Given the description of an element on the screen output the (x, y) to click on. 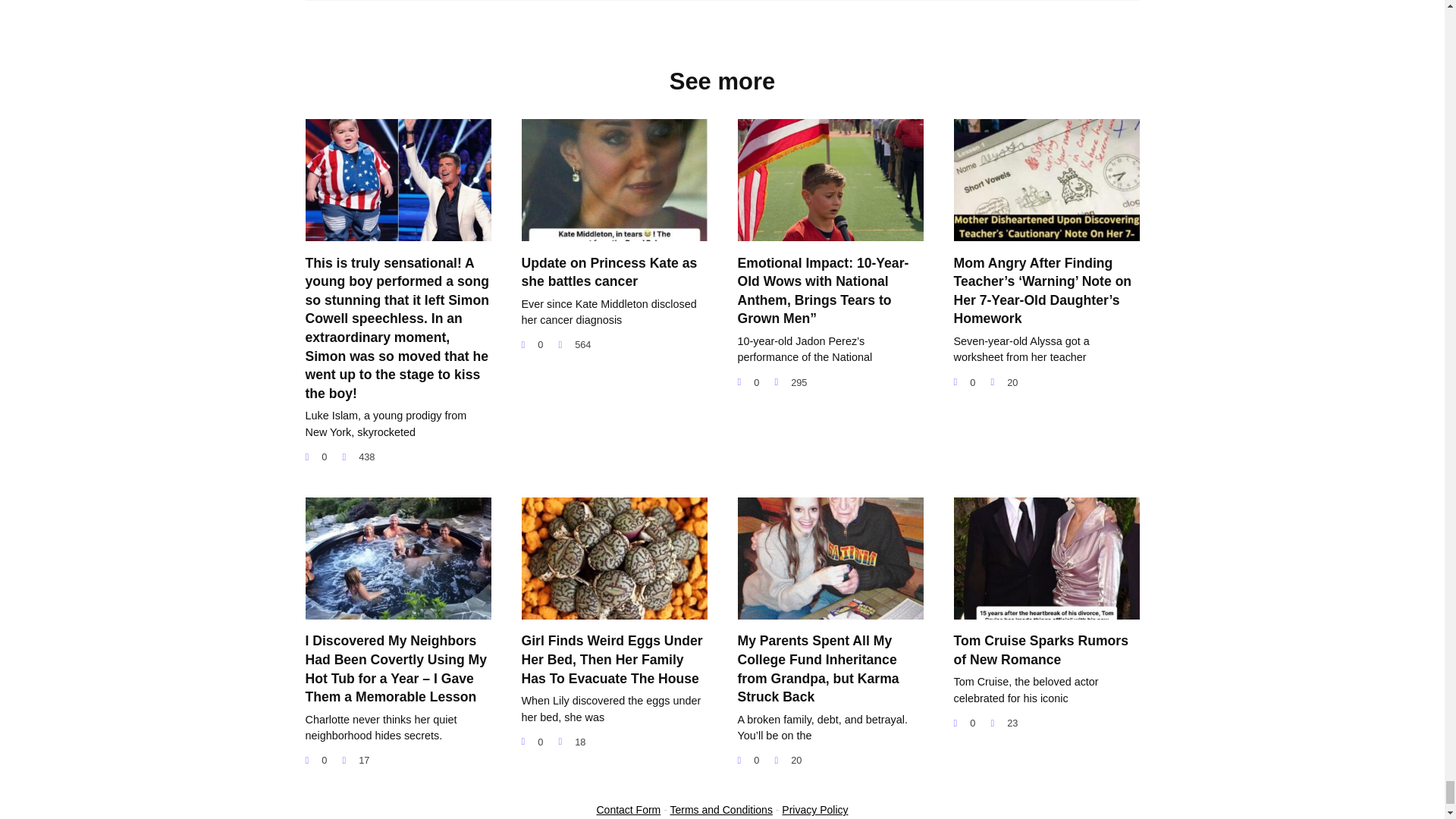
Update on Princess Kate as she battles cancer (609, 271)
Contact Form (628, 809)
Terms and Conditions (721, 809)
Tom Cruise Sparks Rumors of New Romance (1040, 649)
Privacy Policy (814, 809)
